Given the description of an element on the screen output the (x, y) to click on. 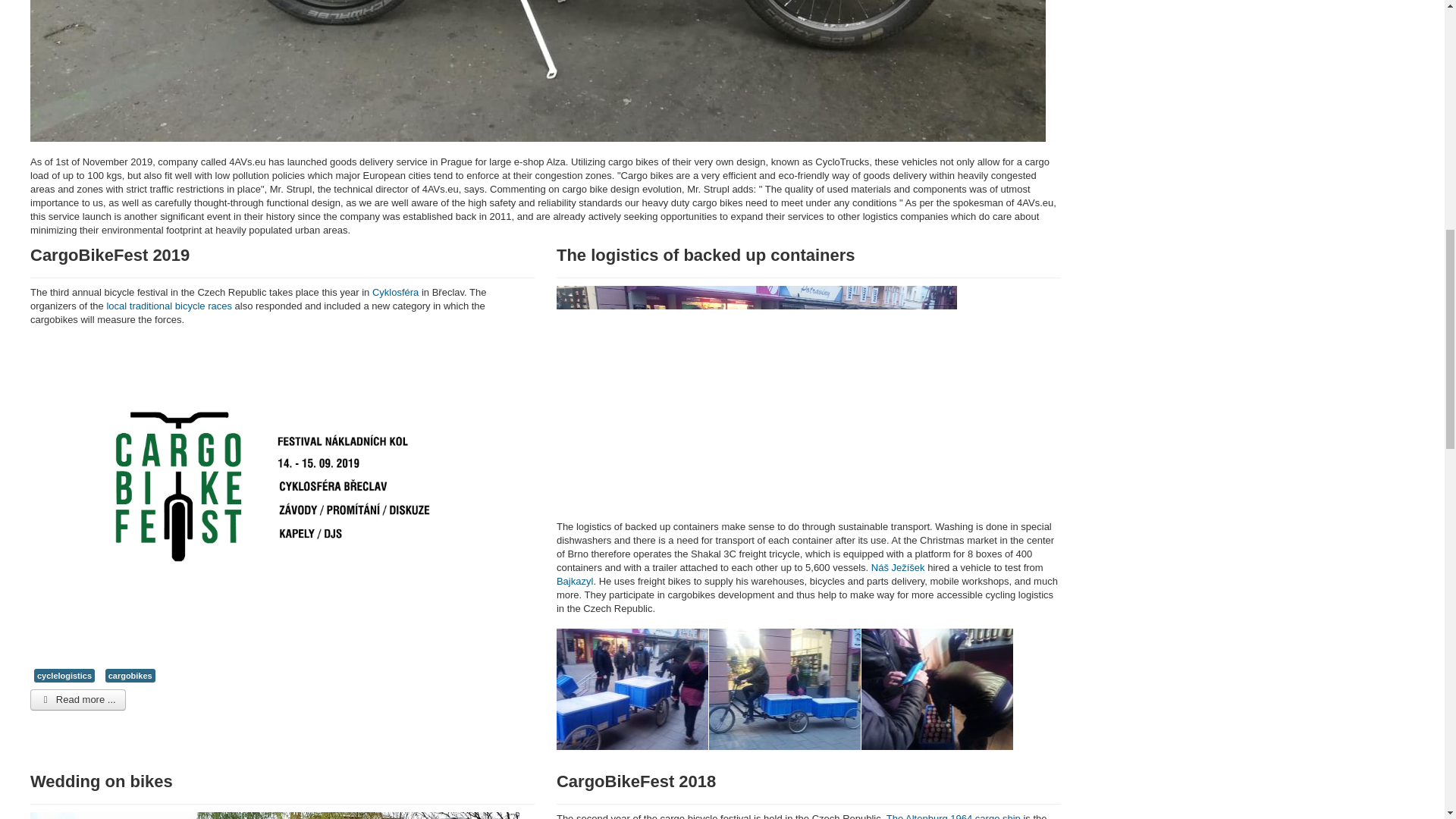
local traditional bicycle races (168, 306)
Bajkazyl (574, 581)
cyclelogistics (63, 675)
Read more ... (77, 699)
cargobikes (129, 675)
